Given the description of an element on the screen output the (x, y) to click on. 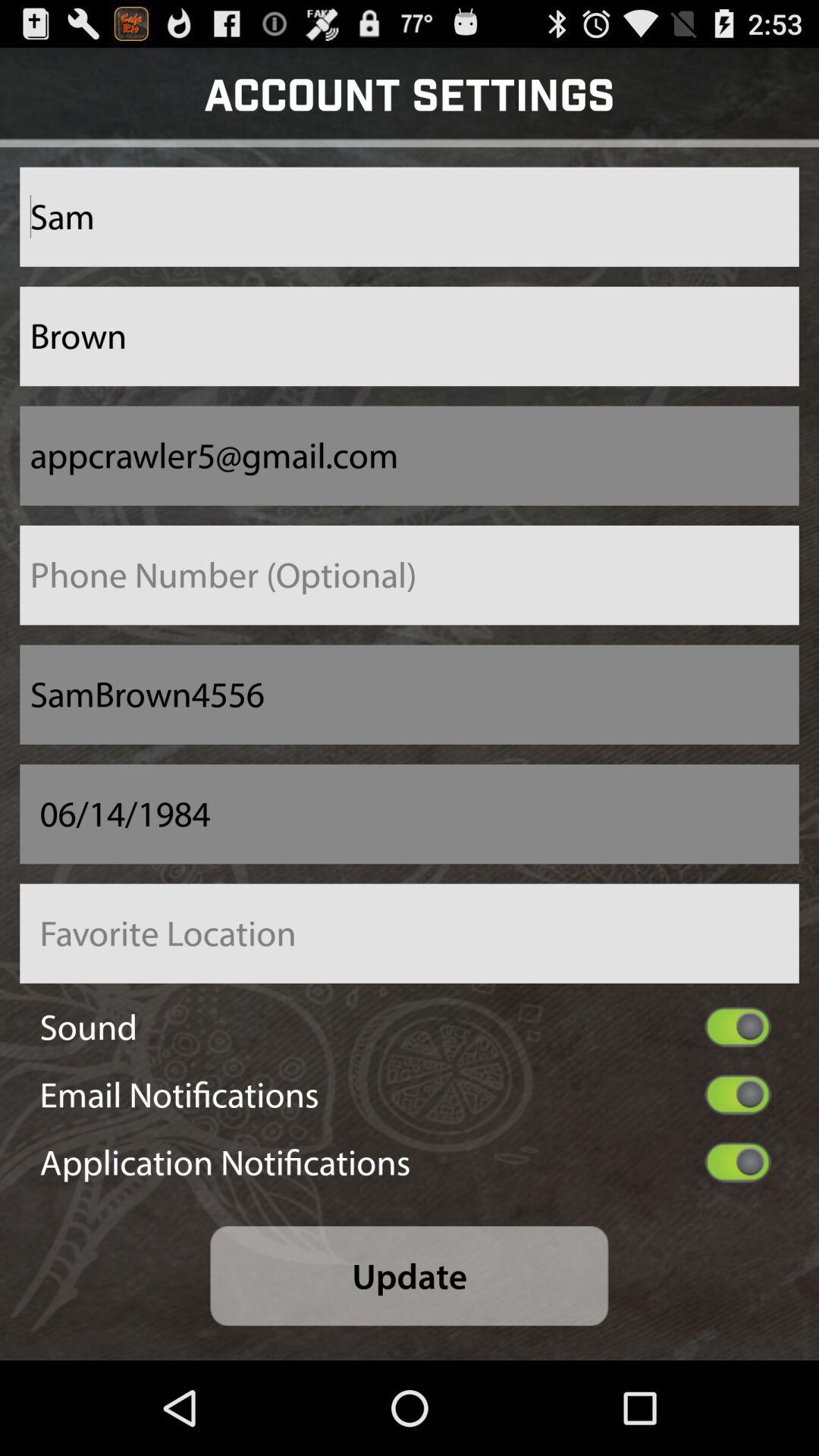
toggle option (737, 1027)
